Given the description of an element on the screen output the (x, y) to click on. 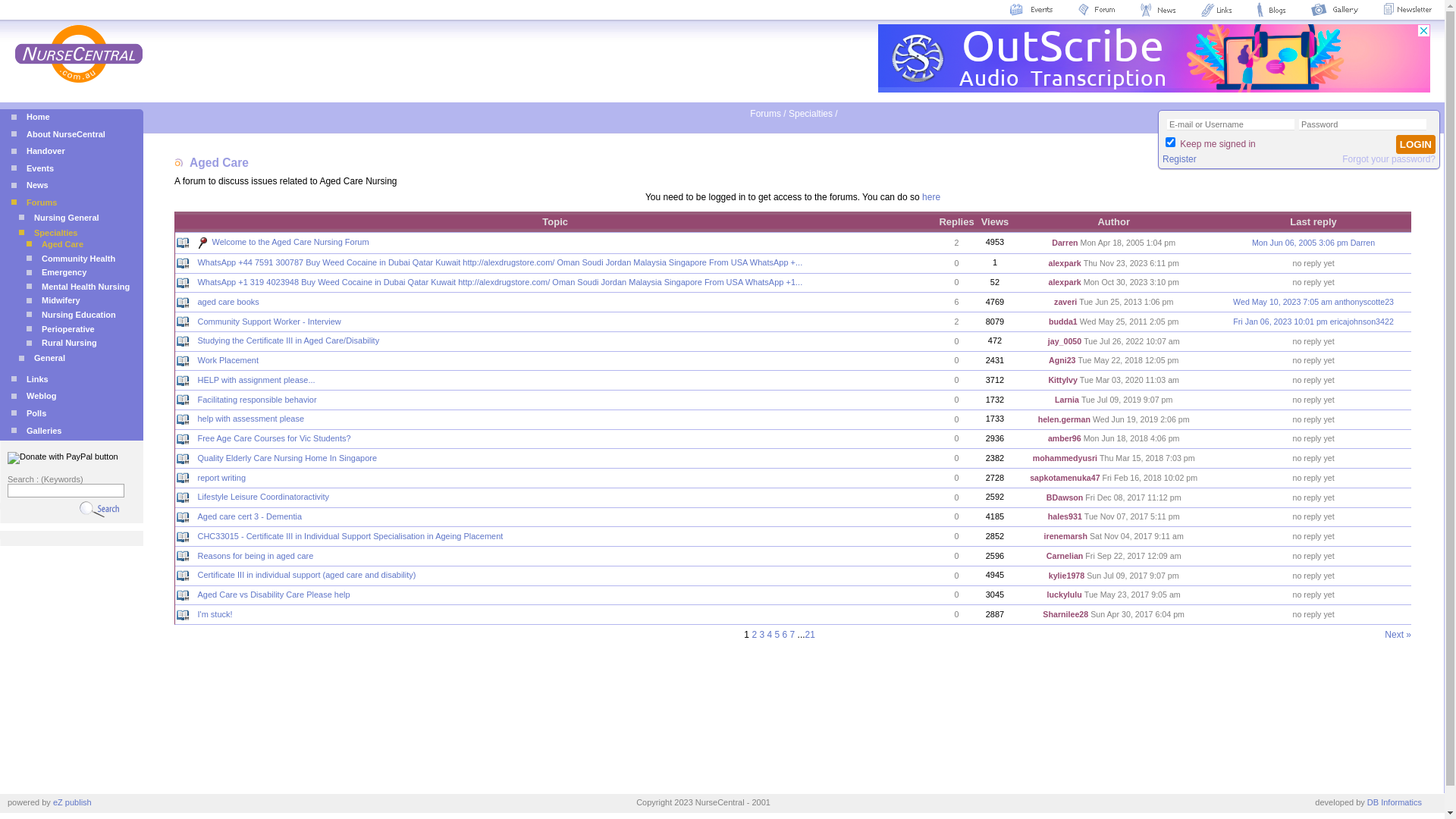
About NurseCentral Element type: text (58, 133)
7 Element type: text (792, 634)
old and not hot Element type: hover (182, 516)
Facilitating responsible behavior Element type: text (256, 399)
Rural Nursing Element type: text (61, 342)
Weblog Element type: text (33, 395)
old and not hot Element type: hover (182, 340)
Handover Element type: text (38, 150)
DB Informatics Element type: text (1394, 801)
old and not hot Element type: hover (182, 555)
Aged Care Element type: text (54, 243)
Lifestyle Leisure Coordinatoractivity Element type: text (263, 496)
Forums Element type: text (765, 113)
Mental Health Nursing Element type: text (77, 286)
old and not hot Element type: hover (182, 282)
5 Element type: text (776, 634)
LOGIN Element type: text (1415, 143)
Specialties Element type: text (47, 232)
old and not hot Element type: hover (182, 399)
NurseCentral Element type: hover (71, 52)
old and not hot Element type: hover (182, 380)
old and not hot Element type: hover (182, 360)
Forgot your password? Element type: text (1388, 158)
4 Element type: text (768, 634)
Forums Element type: text (33, 202)
old and not hot Element type: hover (182, 419)
Emergency Element type: text (56, 271)
Community Support Worker - Interview Element type: text (268, 321)
old and not hot Element type: hover (182, 536)
old and not hot Element type: hover (182, 614)
Mon Jun 06, 2005 3:06 pm Darren Element type: text (1313, 242)
I'm stuck! Element type: text (214, 613)
Galleries Element type: text (36, 430)
Specialties Element type: text (810, 113)
help with assessment please Element type: text (250, 418)
Aged Care vs Disability Care Please help Element type: text (273, 594)
old and not hot Element type: hover (182, 575)
eZ publish Element type: text (72, 801)
HELP with assignment please... Element type: text (255, 379)
old and not hot Element type: hover (182, 497)
Reasons for being in aged care Element type: text (255, 555)
3rd party ad content Element type: hover (1154, 58)
old and not hot Element type: hover (182, 438)
Register Element type: text (1179, 158)
Welcome to the Aged Care Nursing Forum Element type: text (290, 241)
PayPal - The safer, easier way to pay online! Element type: hover (62, 457)
Polls Element type: text (28, 412)
Studying the Certificate III in Aged Care/Disability Element type: text (288, 340)
News Element type: text (29, 184)
old and not hot Element type: hover (182, 302)
Links Element type: text (29, 378)
old and not hot Element type: hover (182, 458)
Nursing General Element type: text (58, 217)
Midwifery Element type: text (53, 299)
Events Element type: text (32, 167)
report writing Element type: text (221, 477)
Aged care cert 3 - Dementia Element type: text (249, 515)
Fri Jan 06, 2023 10:01 pm ericajohnson3422 Element type: text (1313, 321)
old and not hot Element type: hover (182, 262)
Perioperative Element type: text (60, 328)
21 Element type: text (810, 634)
old and not hot Element type: hover (182, 594)
3 Element type: text (761, 634)
6 Element type: text (784, 634)
Wed May 10, 2023 7:05 am anthonyscotte23 Element type: text (1313, 301)
General Element type: text (41, 357)
Nursing Education Element type: text (71, 314)
Quality Elderly Care Nursing Home In Singapore Element type: text (286, 457)
old and not hot Element type: hover (182, 321)
aged care books Element type: text (227, 301)
Free Age Care Courses for Vic Students? Element type: text (273, 437)
old and not hot Element type: hover (182, 242)
here Element type: text (931, 196)
Community Health Element type: text (70, 258)
Home Element type: text (30, 116)
Work Placement Element type: text (227, 359)
2 Element type: text (753, 634)
old and not hot Element type: hover (182, 477)
